Given the description of an element on the screen output the (x, y) to click on. 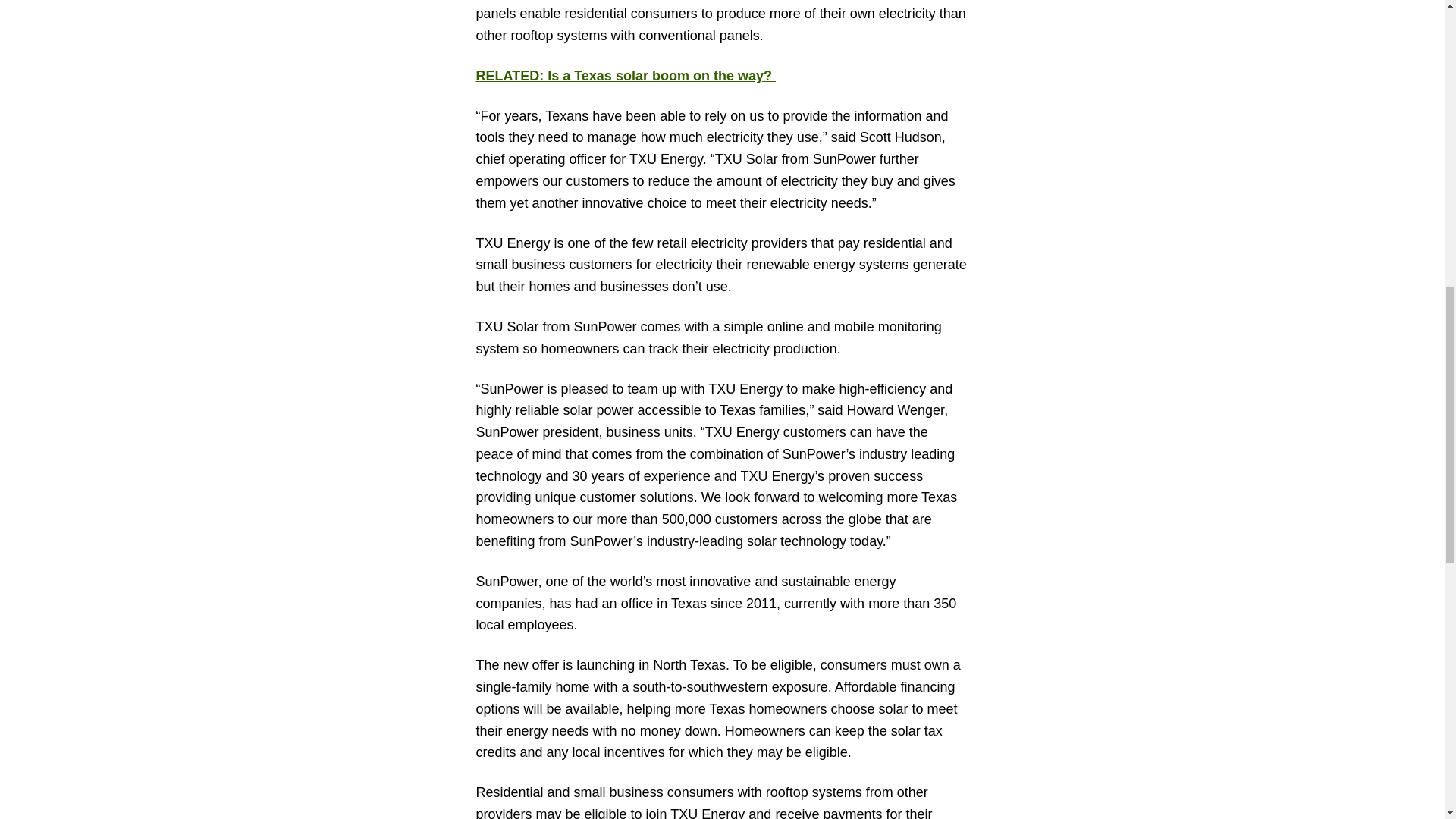
RELATED: Is a Texas solar boom on the way?  (626, 75)
